Given the description of an element on the screen output the (x, y) to click on. 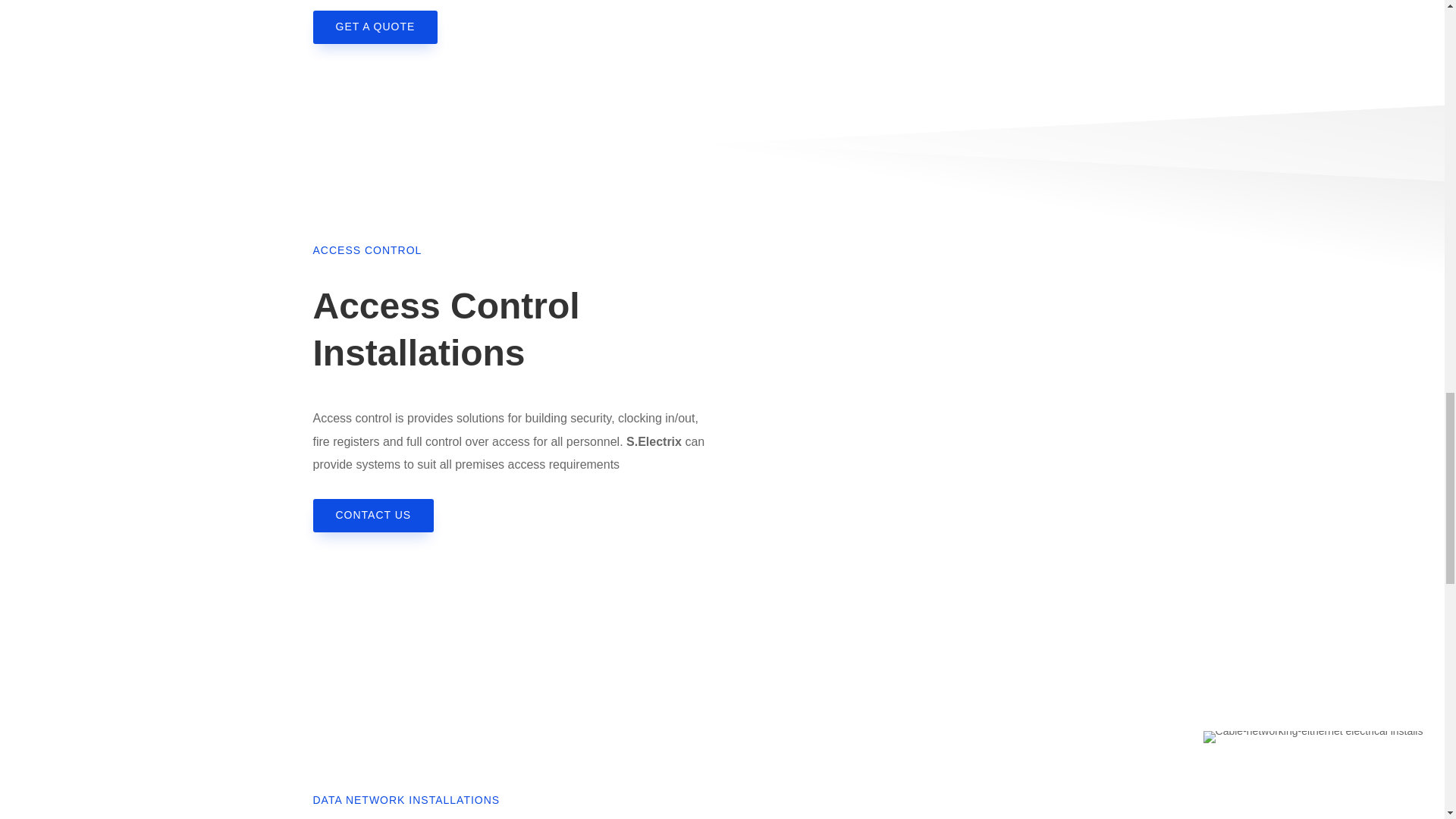
CONTACT US (373, 515)
GET A QUOTE (375, 27)
Cable-networking-eithernet (1313, 736)
